Given the description of an element on the screen output the (x, y) to click on. 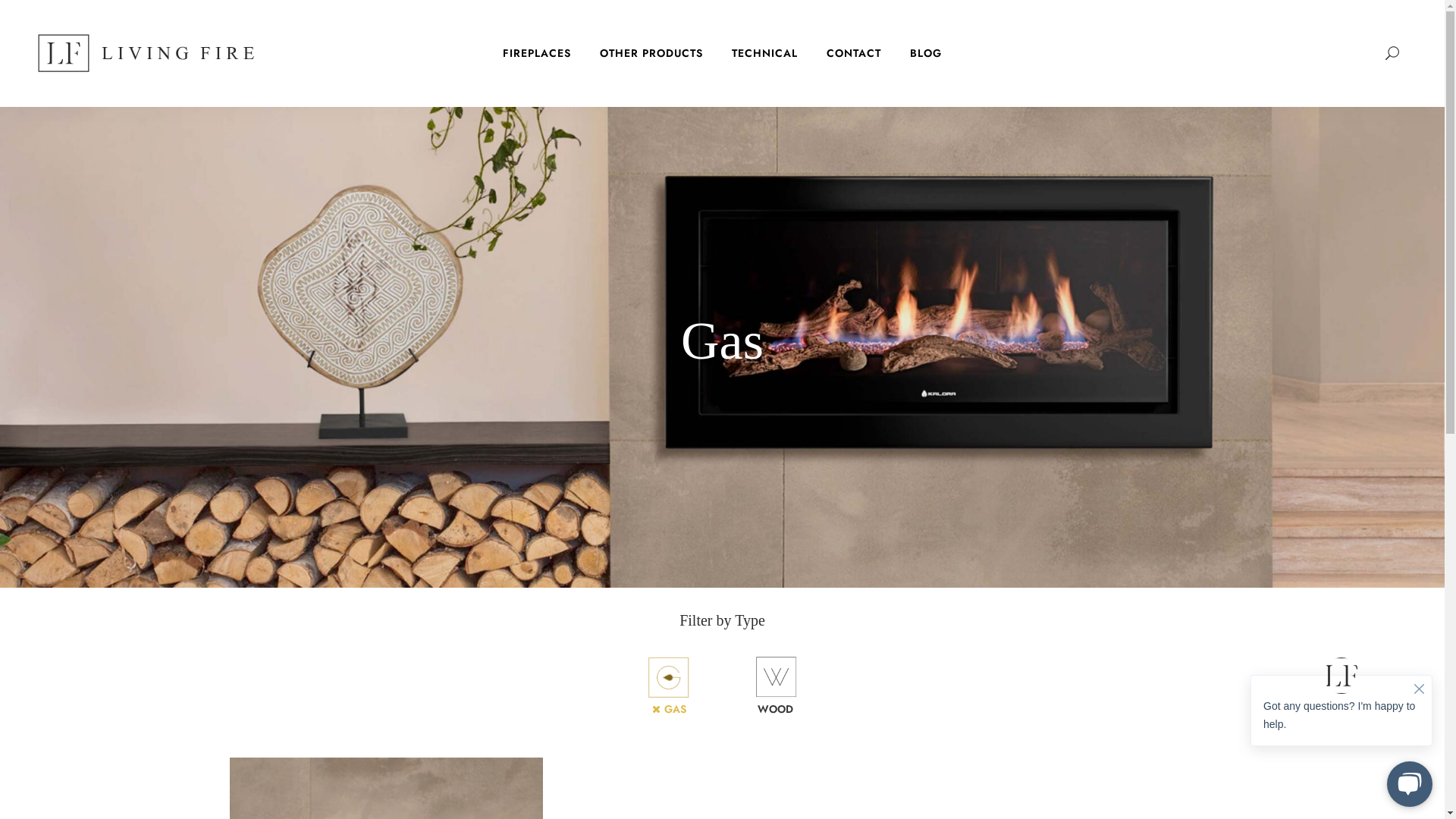
WOOD Element type: text (774, 686)
BLOG Element type: text (925, 53)
TECHNICAL Element type: text (764, 53)
OTHER PRODUCTS Element type: text (651, 53)
FIREPLACES Element type: text (536, 53)
CONTACT Element type: text (853, 53)
GAS Element type: text (668, 686)
